Given the description of an element on the screen output the (x, y) to click on. 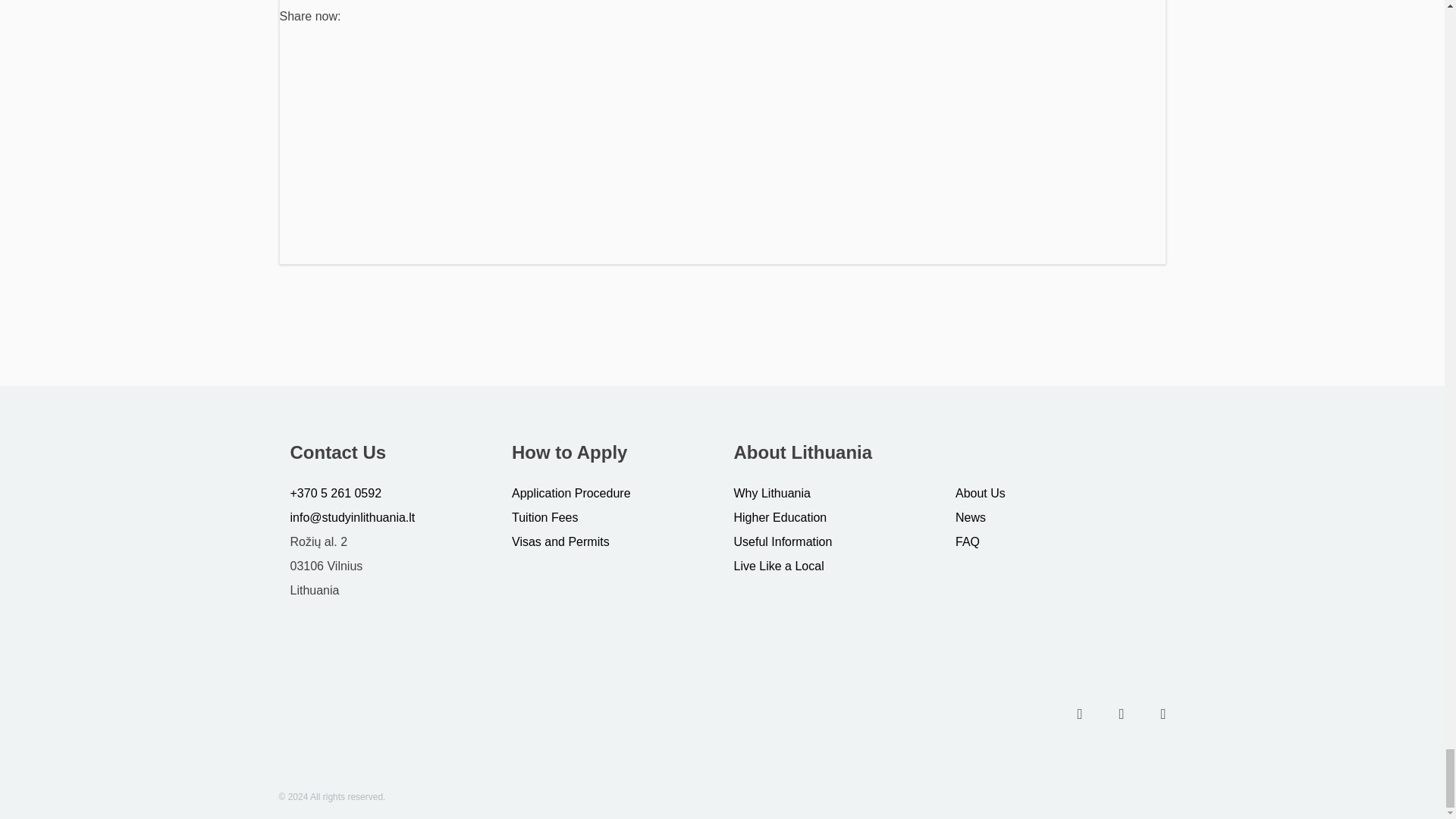
LinkedIn (1163, 714)
SMPF (499, 715)
SMM (648, 715)
ESFA (352, 715)
Instagram (1121, 714)
Facebook (1079, 714)
